Given the description of an element on the screen output the (x, y) to click on. 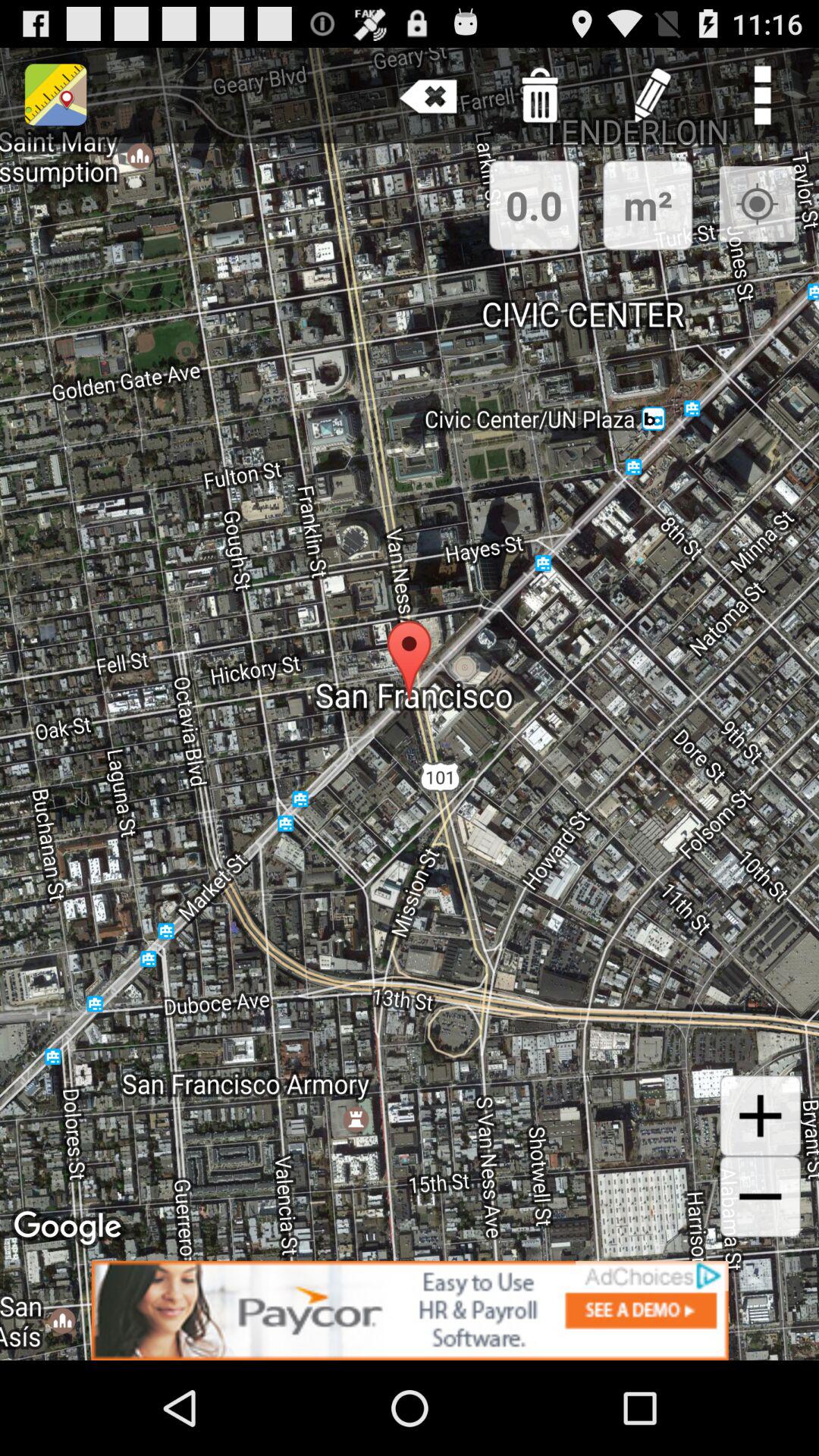
zoom out (760, 1196)
